Given the description of an element on the screen output the (x, y) to click on. 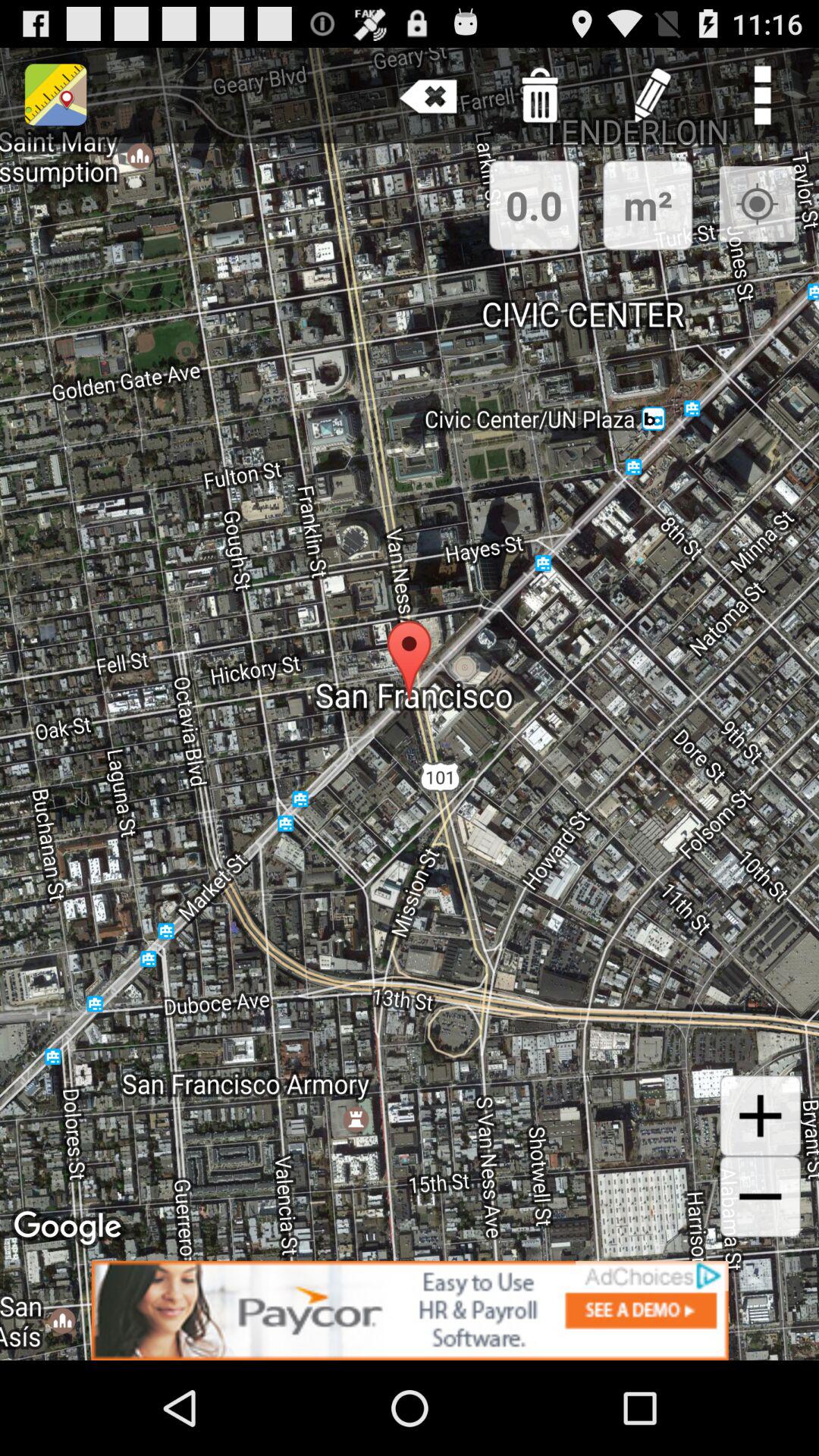
zoom out (760, 1196)
